Given the description of an element on the screen output the (x, y) to click on. 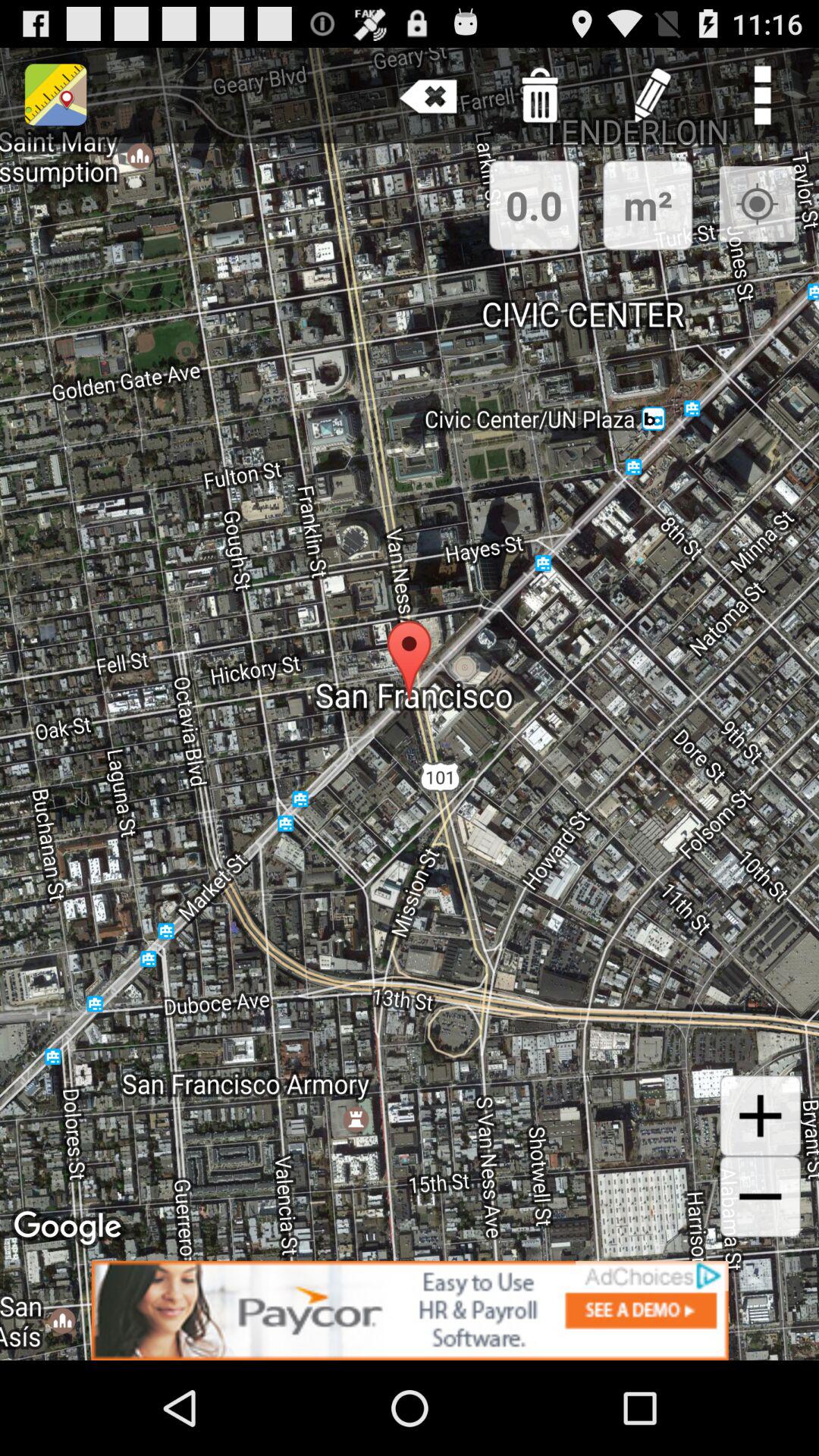
zoom out (760, 1196)
